Given the description of an element on the screen output the (x, y) to click on. 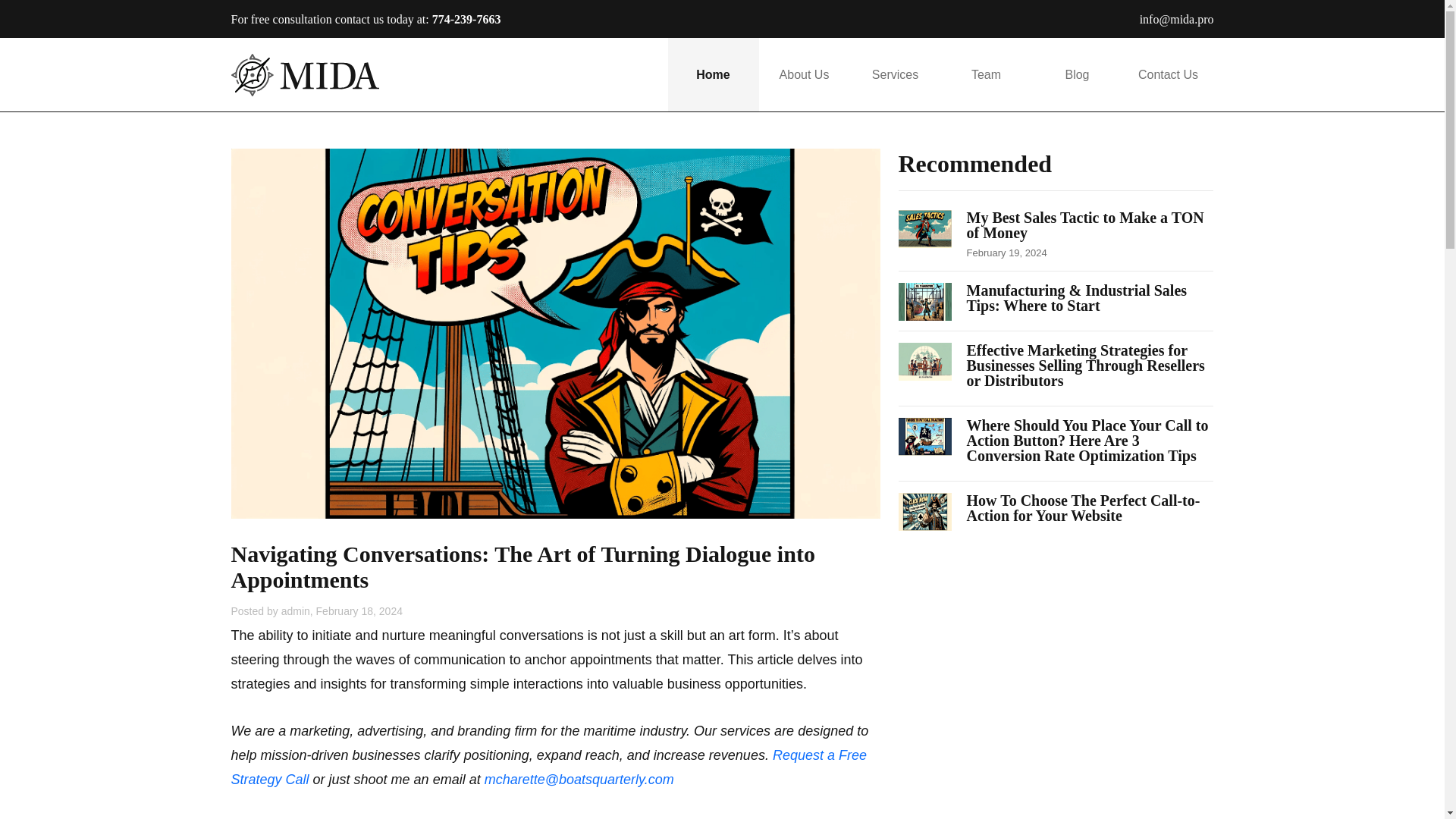
Blog (1076, 74)
Team (985, 74)
Services (894, 74)
Home (712, 74)
How To Choose The Perfect Call-to-Action for Your Website (1089, 508)
My Best Sales Tactic to Make a TON of Money (1089, 233)
Request a Free Strategy Call (548, 767)
Contact Us (1167, 74)
About Us (803, 74)
774-239-7663 (466, 19)
